Given the description of an element on the screen output the (x, y) to click on. 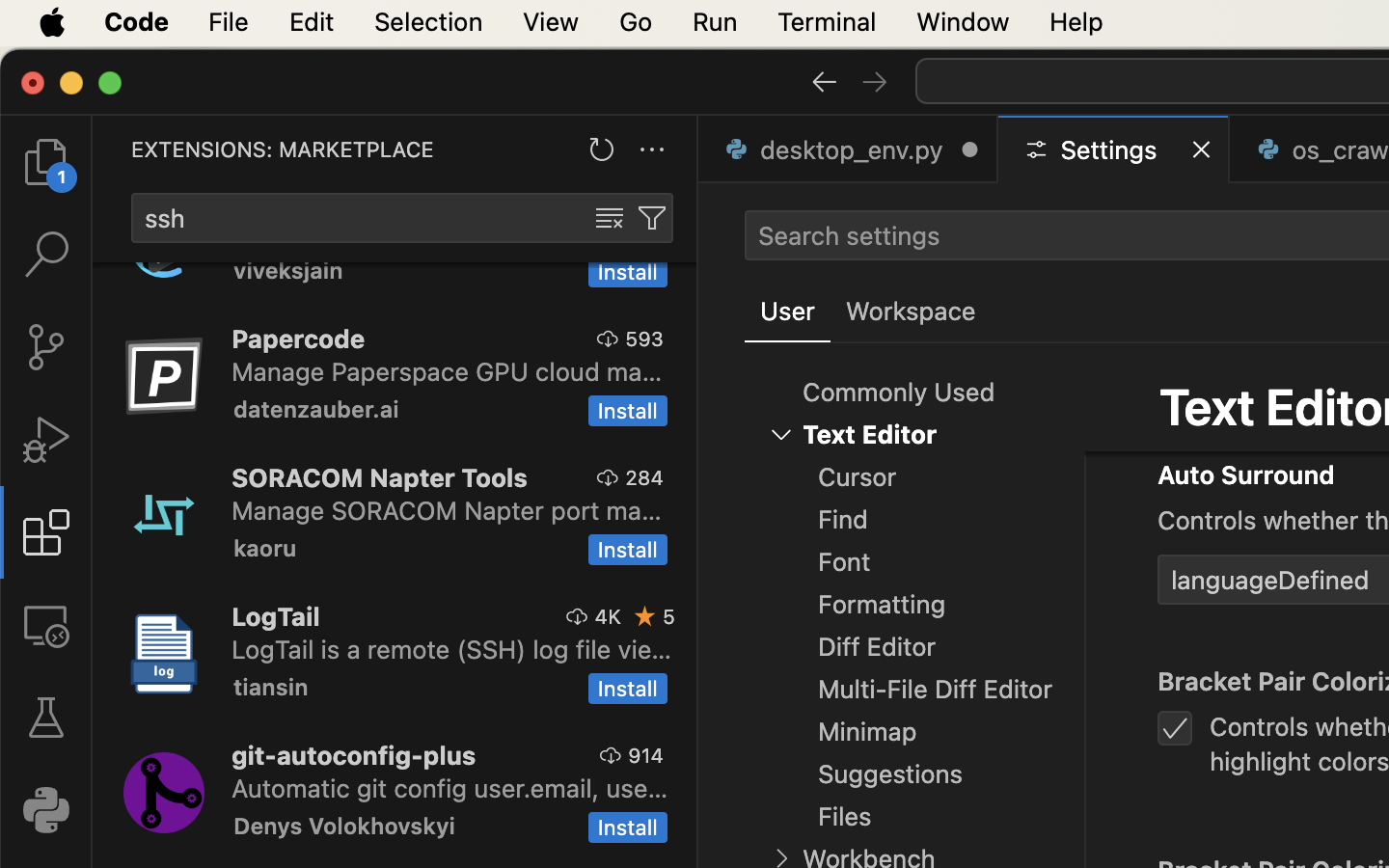
Search settings Element type: AXStaticText (849, 235)
git-autoconfig-plus Element type: AXStaticText (353, 754)
Diff Editor Element type: AXStaticText (877, 646)
SORACOM Napter Tools Element type: AXStaticText (379, 476)
 Element type: AXStaticText (1108, 470)
